Given the description of an element on the screen output the (x, y) to click on. 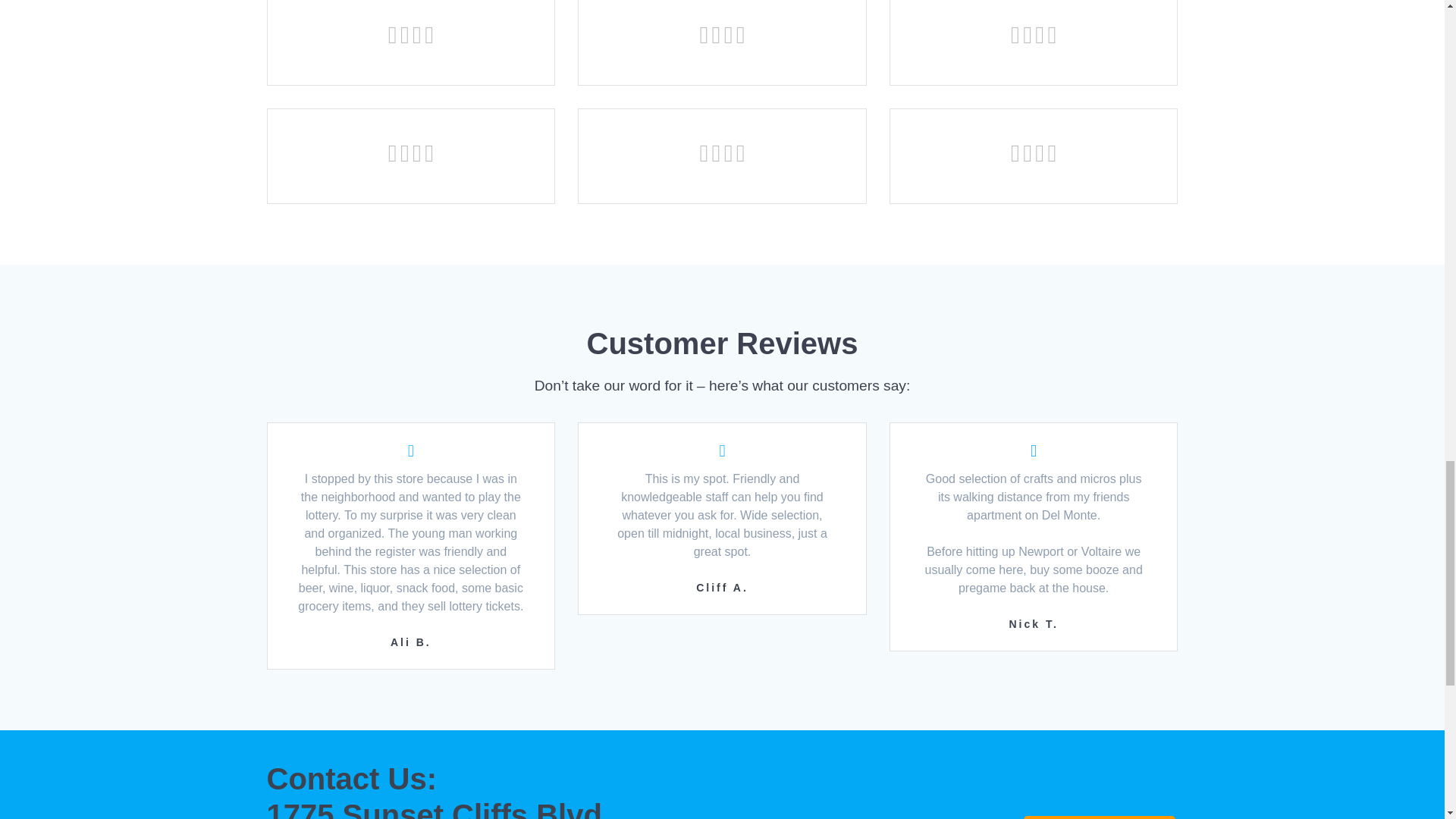
Find Us on Google Maps (1099, 817)
